Given the description of an element on the screen output the (x, y) to click on. 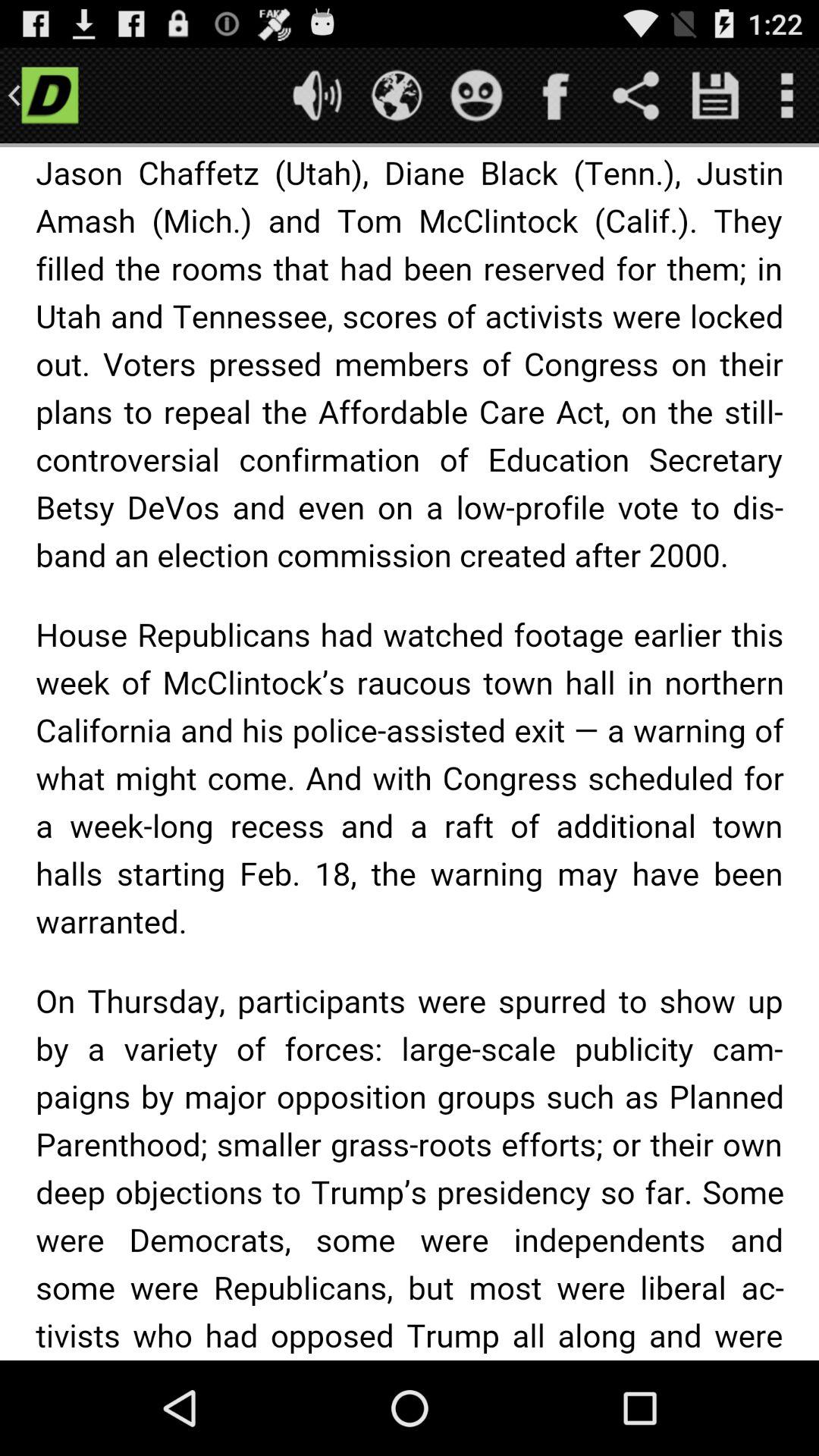
options menu (787, 95)
